Given the description of an element on the screen output the (x, y) to click on. 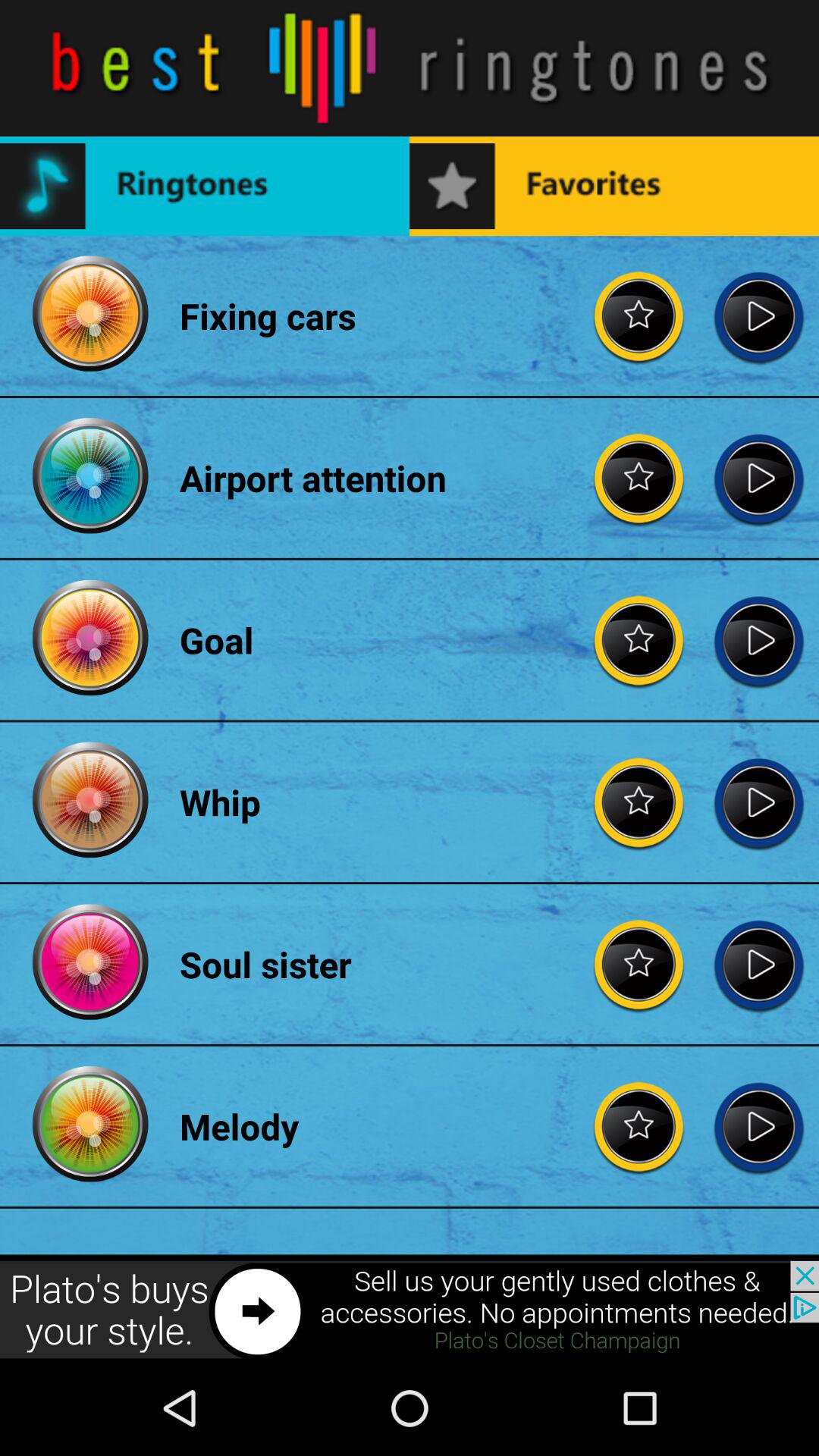
go next (758, 1126)
